Given the description of an element on the screen output the (x, y) to click on. 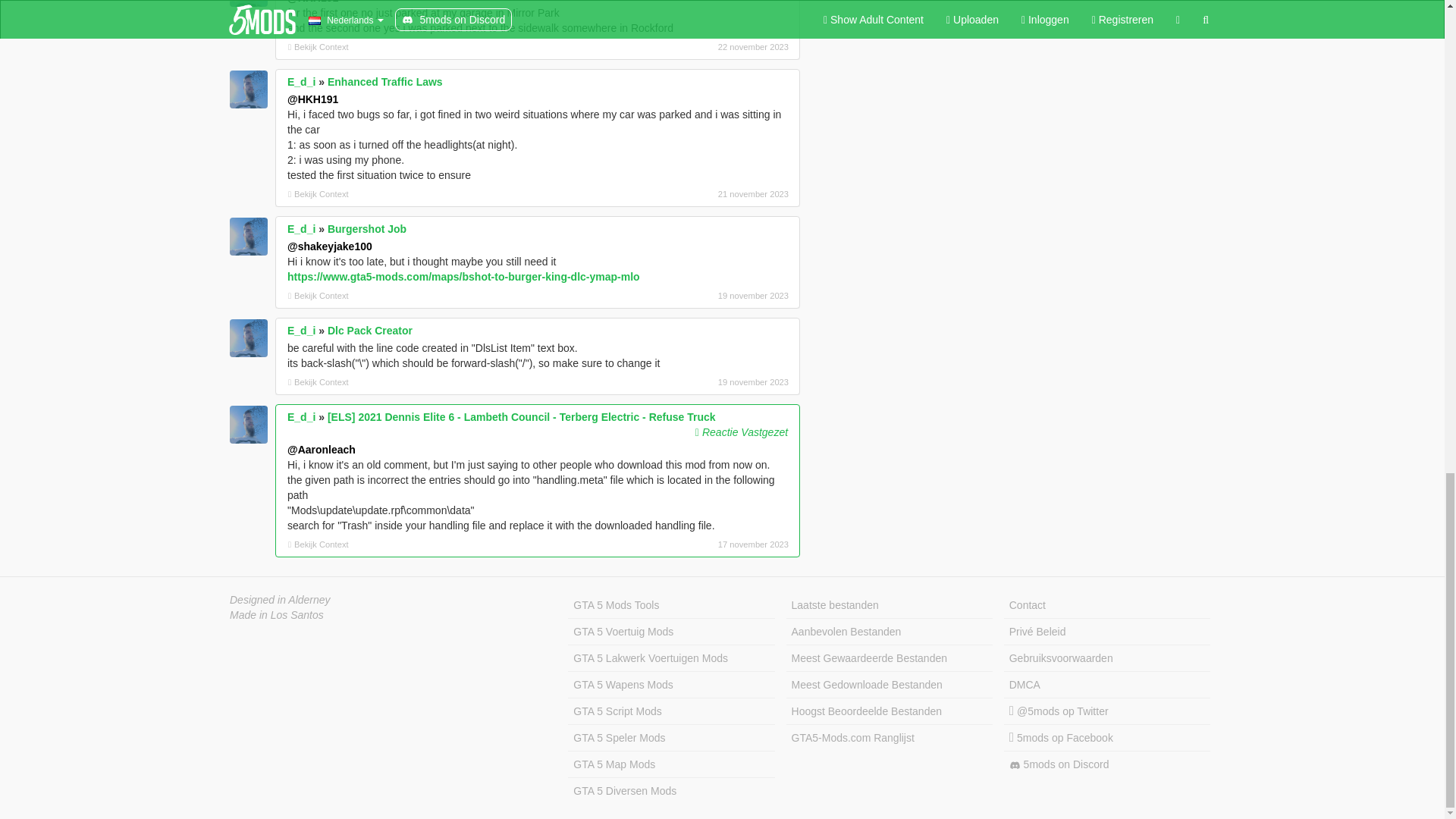
di 21 nov 2023 12:31:33 UTC (708, 193)
vr 17 nov 2023 17:13:32 UTC (708, 544)
wo 22 nov 2023 06:27:23 UTC (708, 47)
5mods on Discord (1106, 764)
zo 19 nov 2023 14:18:52 UTC (708, 295)
5mods op Facebook (1106, 737)
zo 19 nov 2023 04:47:14 UTC (708, 382)
